Given the description of an element on the screen output the (x, y) to click on. 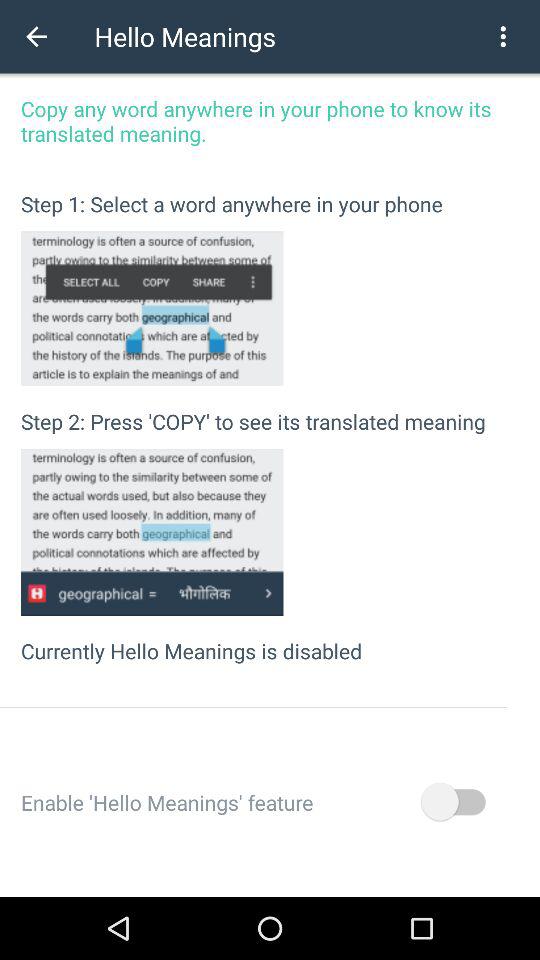
more options (503, 36)
